Given the description of an element on the screen output the (x, y) to click on. 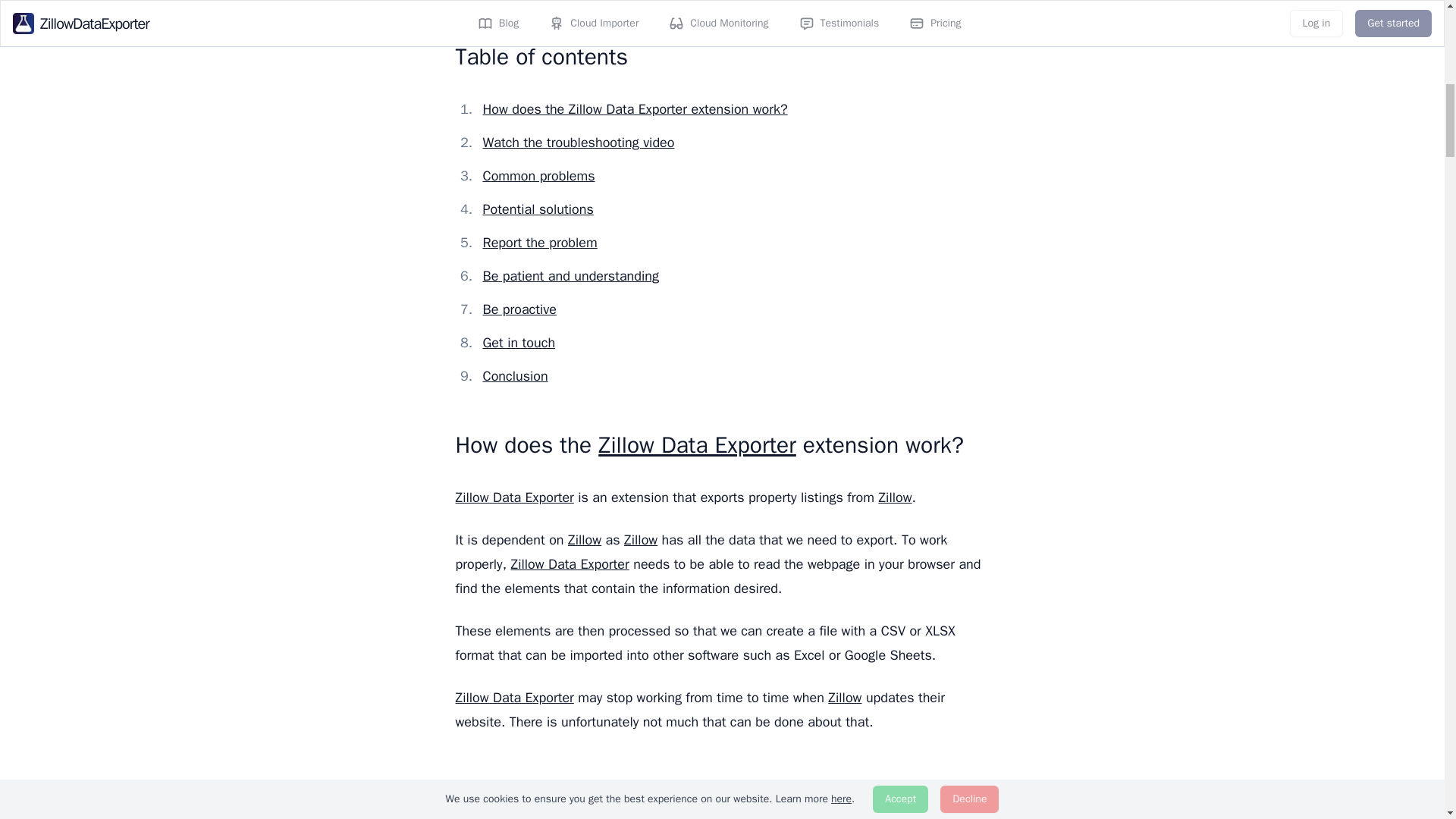
Zillow (641, 539)
Be patient and understanding (570, 275)
Conclusion (514, 375)
Zillow (584, 539)
Report the problem (538, 242)
Zillow Data Exporter (697, 444)
Potential solutions (536, 208)
Zillow Data Exporter (513, 497)
Get in touch (517, 342)
Common problems (537, 175)
Watch the troubleshooting video (577, 142)
Zillow (894, 497)
How does the Zillow Data Exporter extension work? (634, 108)
Be proactive (518, 309)
